Given the description of an element on the screen output the (x, y) to click on. 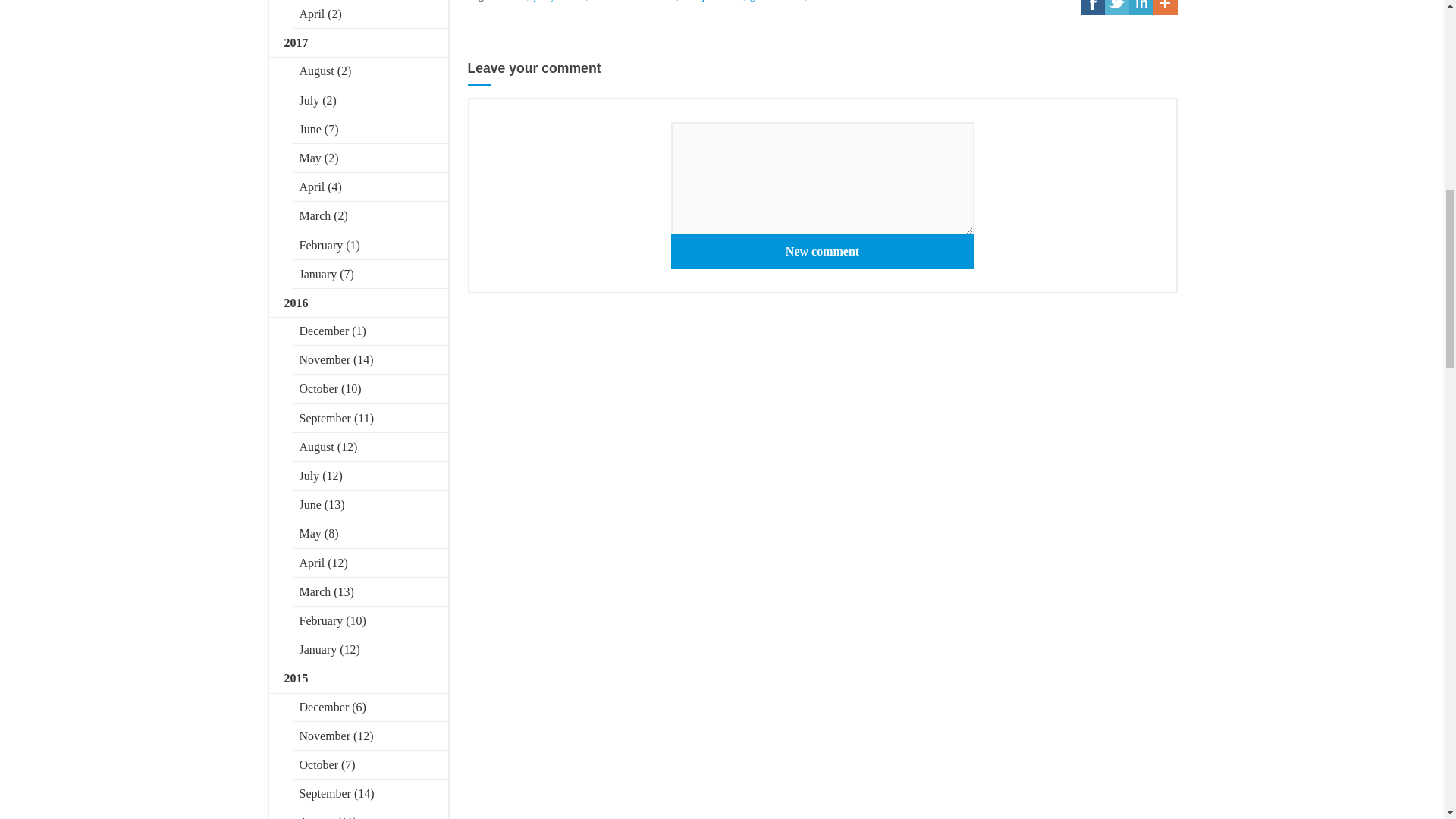
New comment (821, 251)
